Given the description of an element on the screen output the (x, y) to click on. 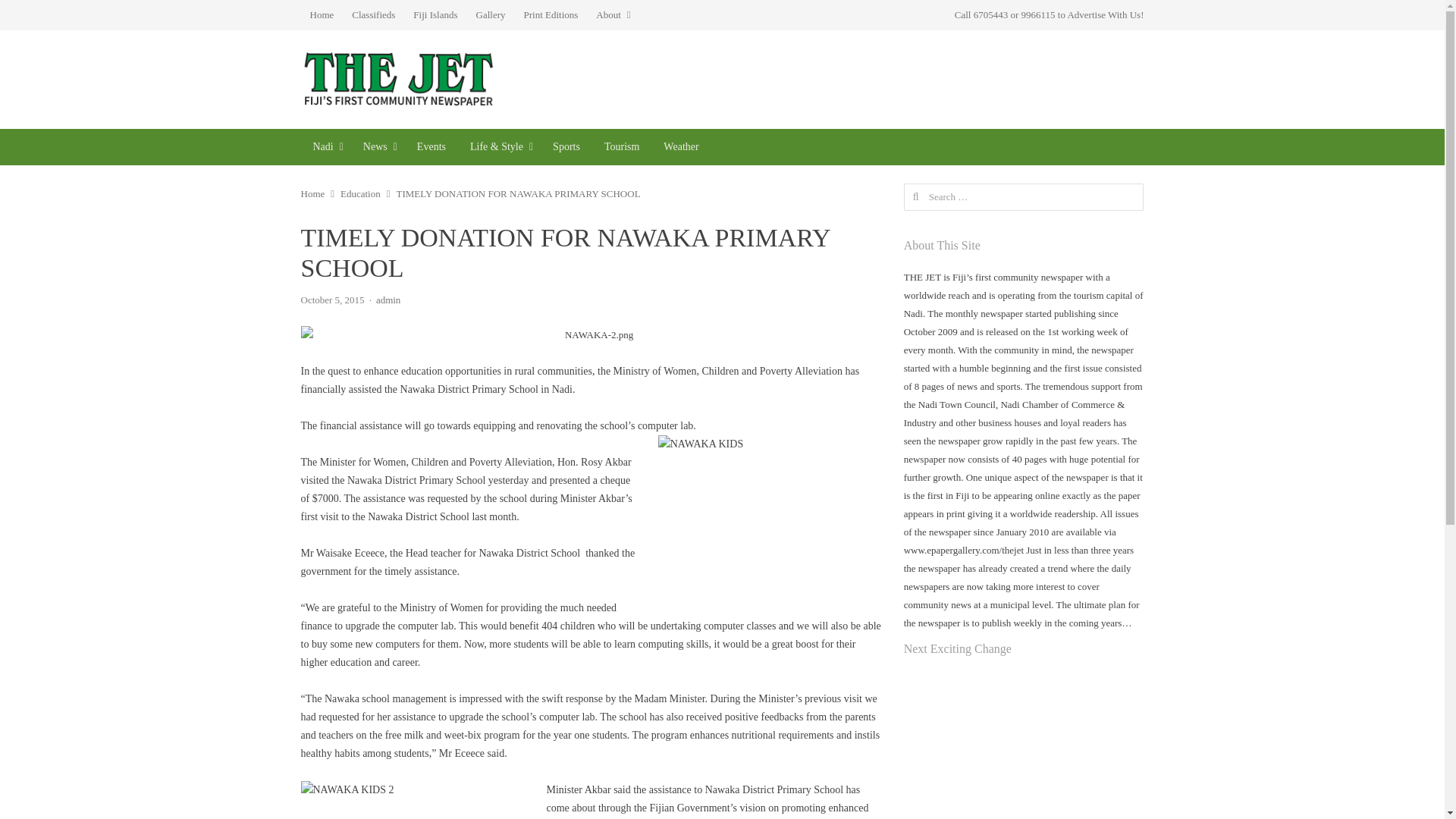
Home (320, 14)
Gallery (491, 14)
Print Editions (549, 14)
Fiji Islands (434, 14)
Classifieds (373, 14)
NADI CDN (324, 146)
About (612, 14)
